Given the description of an element on the screen output the (x, y) to click on. 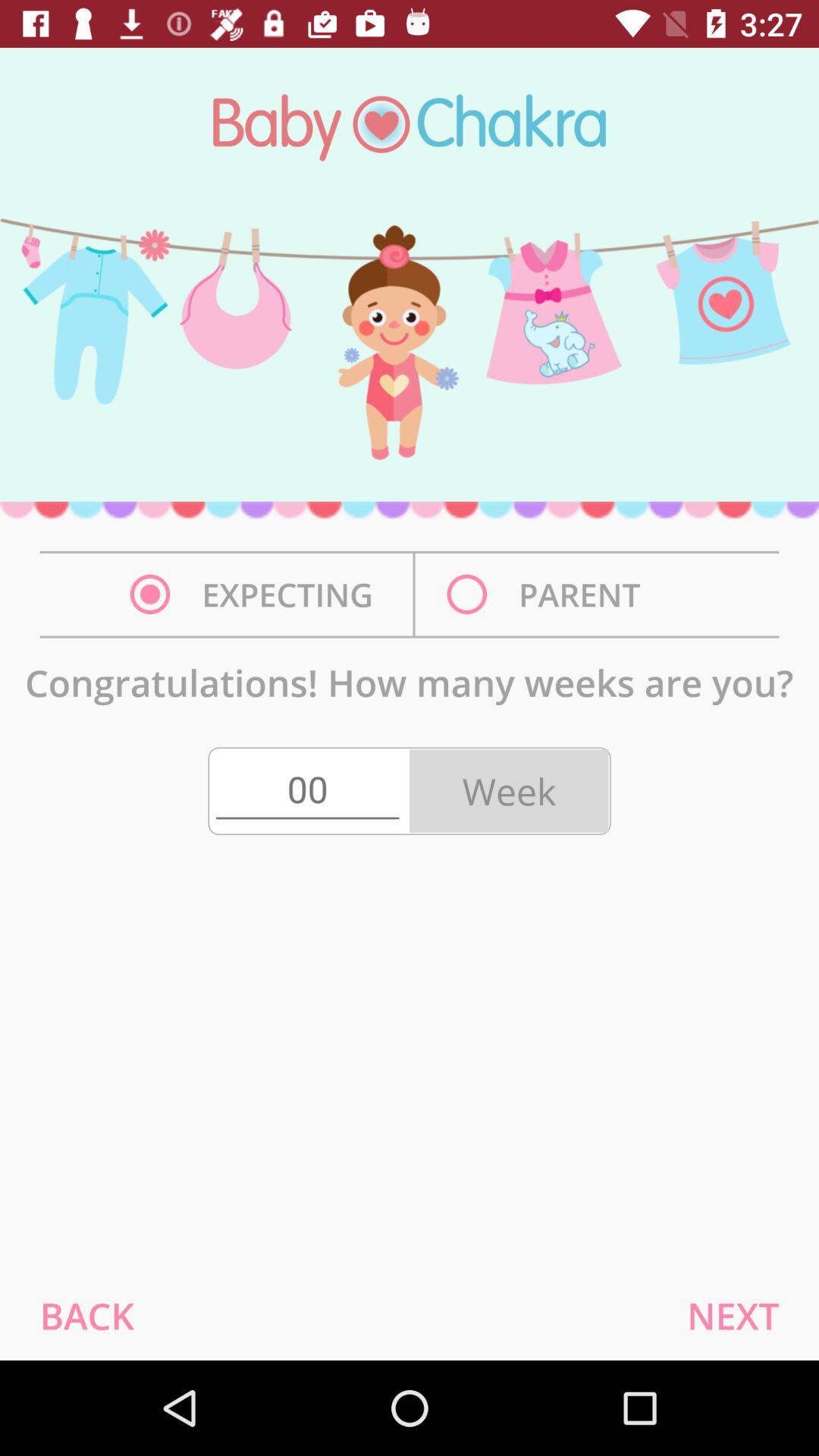
choose the item below congratulations how many icon (86, 1315)
